Given the description of an element on the screen output the (x, y) to click on. 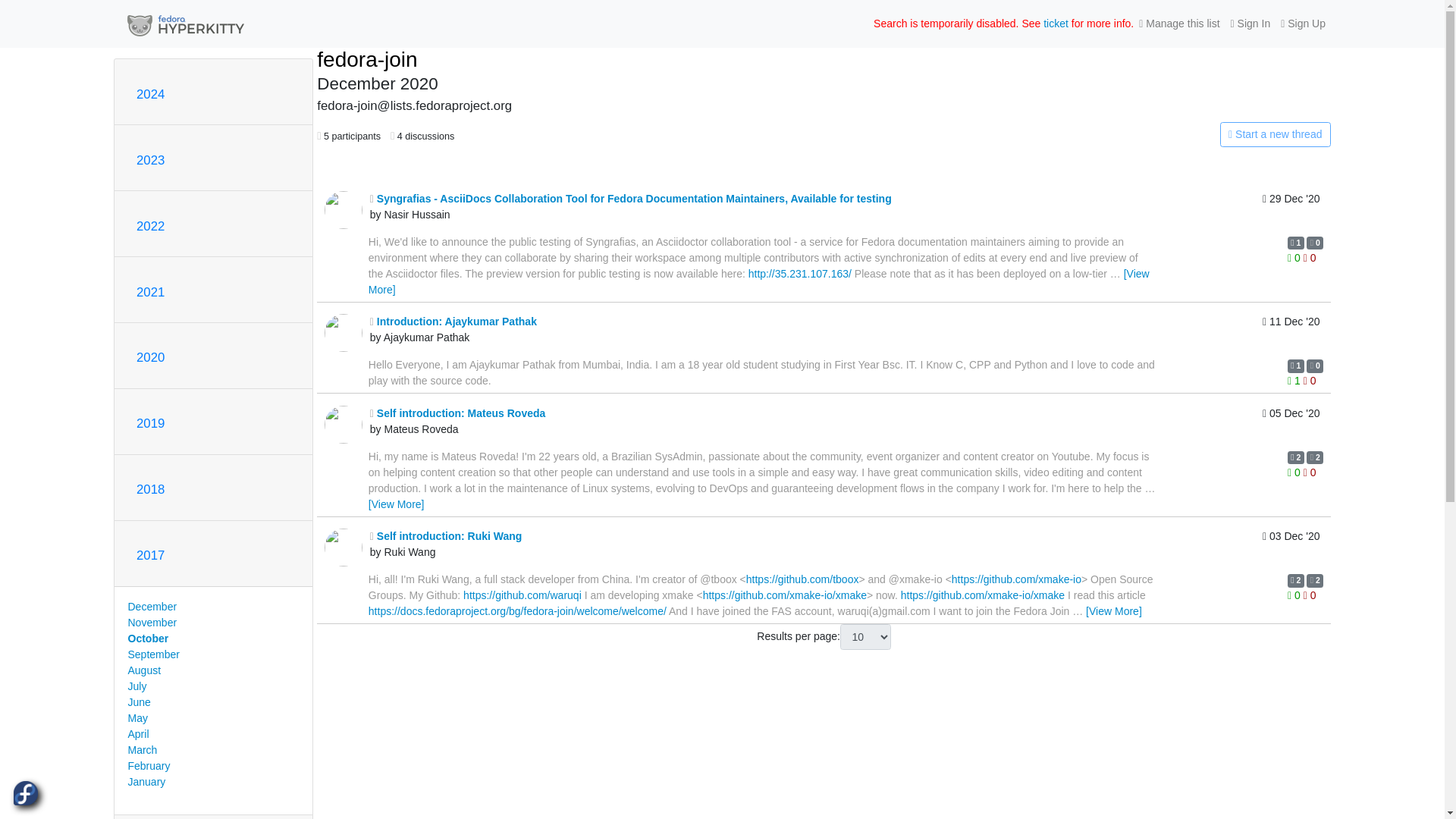
You must be logged-in to vote. (1309, 380)
You must be logged-in to vote. (1295, 380)
You must be logged-in to vote. (1295, 257)
Sign In (1250, 23)
Sign Up (1302, 23)
2024 (150, 93)
Manage this list (1179, 23)
ticket (1055, 23)
Saturday, 5 December 2020 02:01:24 (1291, 424)
You must be logged-in to vote. (1309, 257)
